Given the description of an element on the screen output the (x, y) to click on. 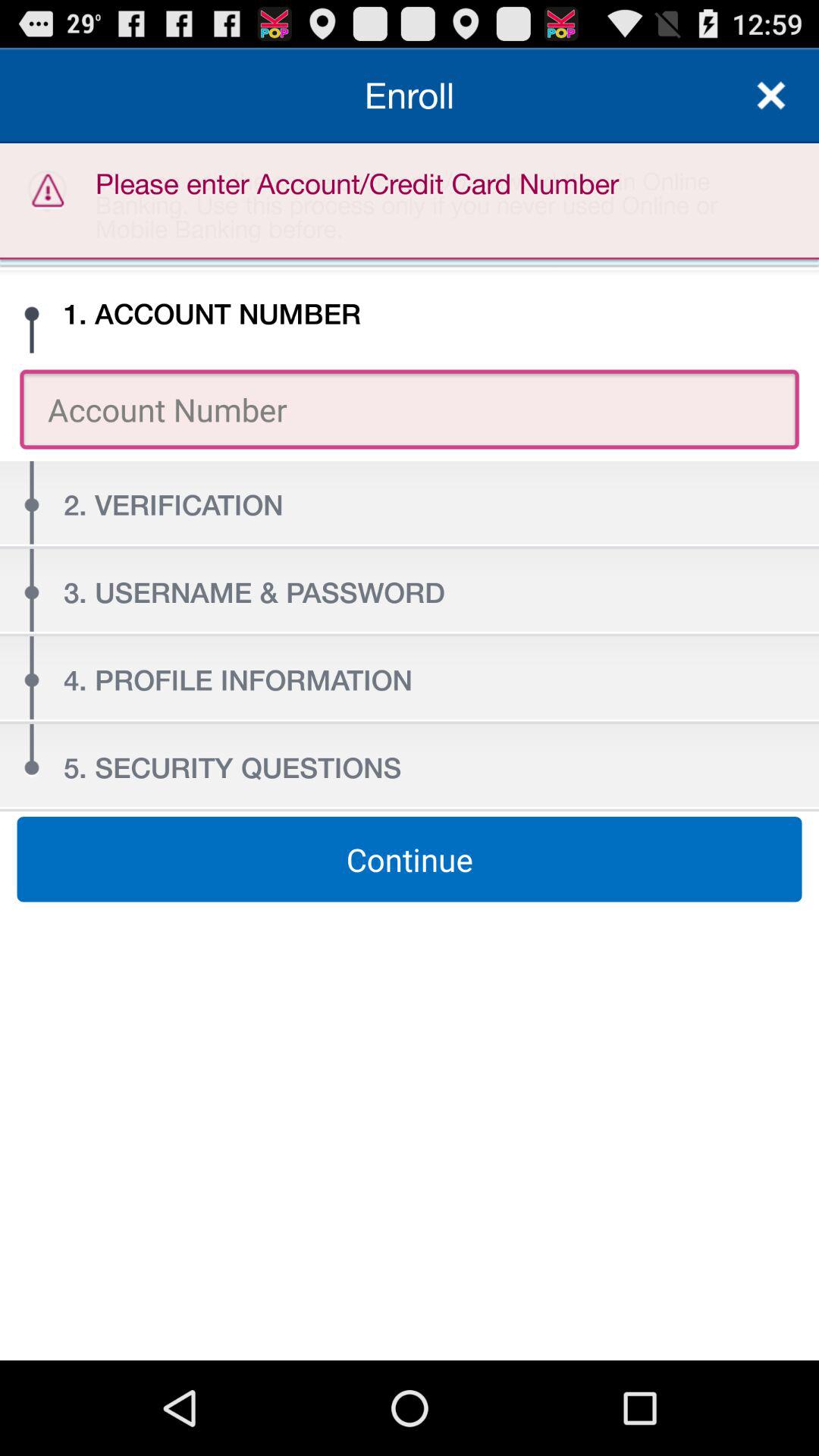
enter account number (409, 409)
